Given the description of an element on the screen output the (x, y) to click on. 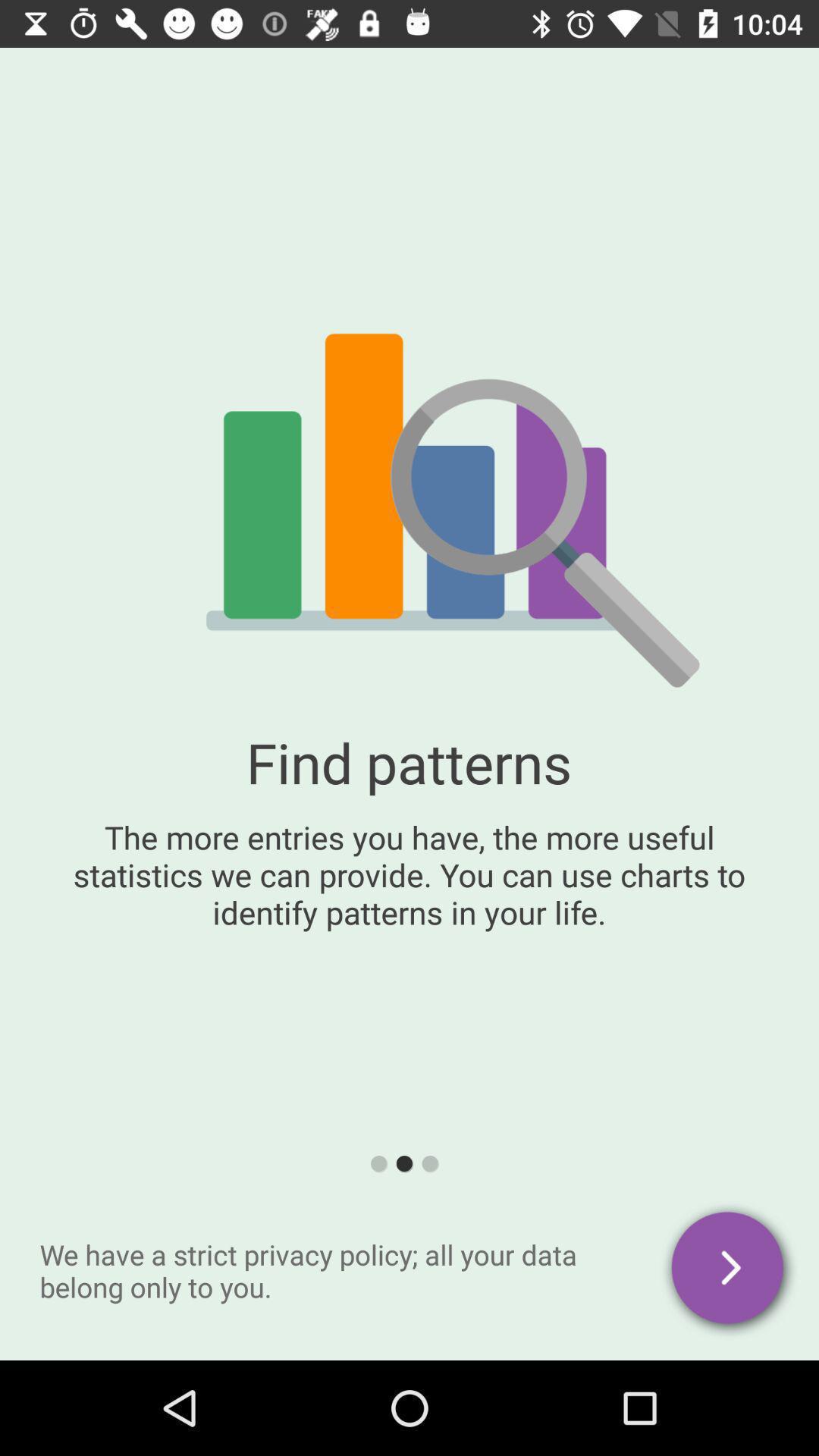
go next (729, 1270)
